Given the description of an element on the screen output the (x, y) to click on. 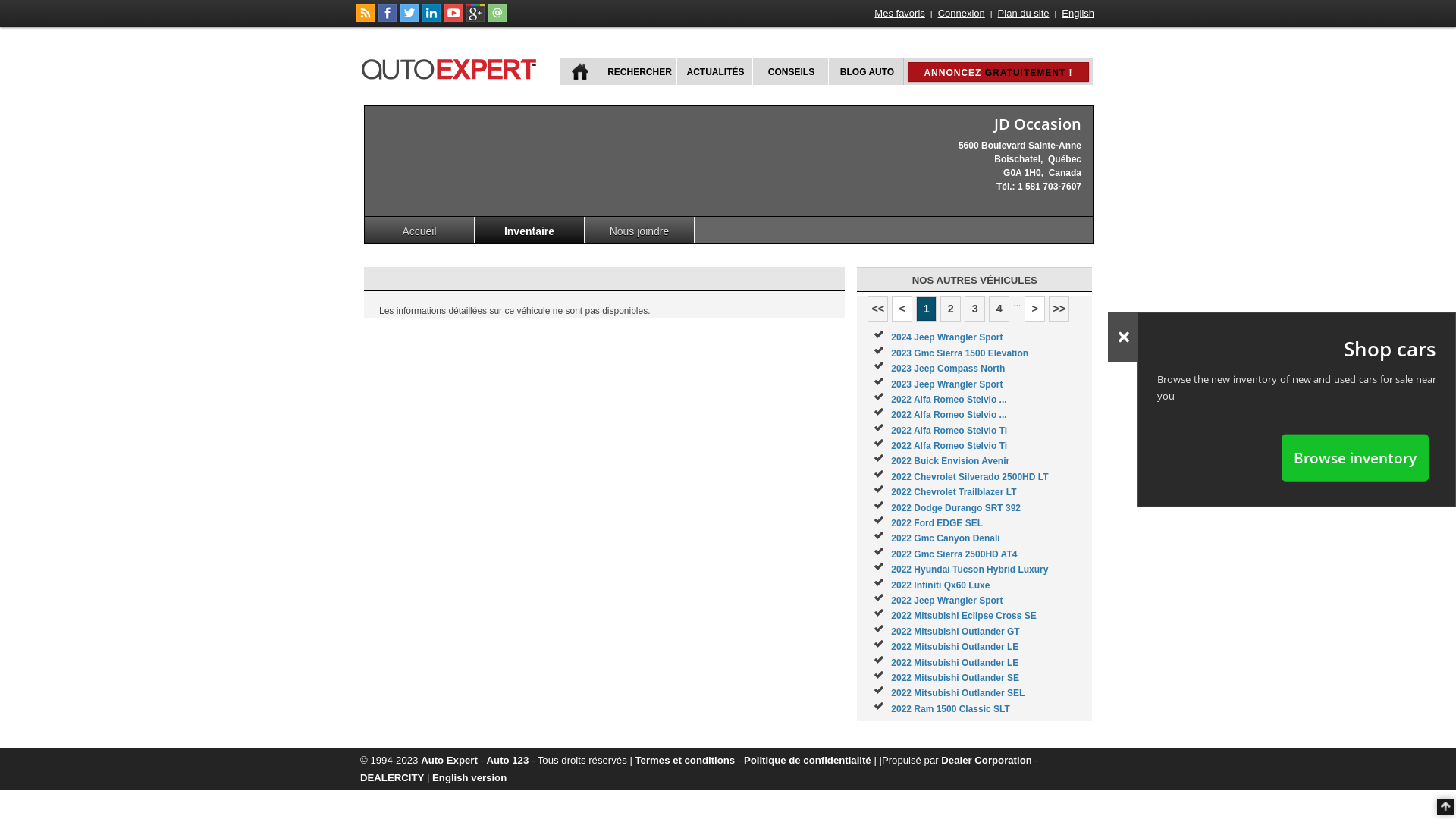
2022 Alfa Romeo Stelvio Ti Element type: text (949, 430)
2022 Infiniti Qx60 Luxe Element type: text (940, 585)
2023 Jeep Wrangler Sport Element type: text (946, 384)
2022 Mitsubishi Outlander LE Element type: text (954, 662)
< Element type: text (901, 308)
2022 Mitsubishi Outlander SEL Element type: text (957, 692)
ANNONCEZ GRATUITEMENT ! Element type: text (997, 71)
2022 Ford EDGE SEL Element type: text (936, 522)
2022 Jeep Wrangler Sport Element type: text (946, 600)
2023 Gmc Sierra 1500 Elevation Element type: text (959, 353)
2022 Buick Envision Avenir Element type: text (950, 460)
DEALERCITY Element type: text (391, 777)
<< Element type: text (877, 308)
2022 Alfa Romeo Stelvio Ti Element type: text (949, 445)
3 Element type: text (974, 308)
2022 Alfa Romeo Stelvio ... Element type: text (948, 399)
English Element type: text (1077, 13)
2022 Ram 1500 Classic SLT Element type: text (950, 708)
2022 Hyundai Tucson Hybrid Luxury Element type: text (969, 569)
Joindre autoExpert.ca Element type: hover (497, 18)
2022 Gmc Canyon Denali Element type: text (945, 538)
2 Element type: text (950, 308)
Browse inventory Element type: text (1354, 457)
2023 Jeep Compass North Element type: text (947, 368)
2022 Mitsubishi Outlander LE Element type: text (954, 646)
Suivez autoExpert.ca sur Youtube Element type: hover (453, 18)
Auto 123 Element type: text (507, 759)
4 Element type: text (998, 308)
2024 Jeep Wrangler Sport Element type: text (946, 337)
1 Element type: text (926, 308)
Suivez Publications Le Guide Inc. sur LinkedIn Element type: hover (431, 18)
CONSEILS Element type: text (789, 71)
ACCUEIL Element type: text (580, 71)
2022 Gmc Sierra 2500HD AT4 Element type: text (953, 554)
Connexion Element type: text (961, 13)
Accueil Element type: text (419, 229)
English version Element type: text (469, 777)
Suivez autoExpert.ca sur Twitter Element type: hover (409, 18)
Termes et conditions Element type: text (685, 759)
BLOG AUTO Element type: text (865, 71)
Inventaire Element type: text (529, 229)
2022 Dodge Durango SRT 392 Element type: text (955, 507)
> Element type: text (1034, 308)
RECHERCHER Element type: text (637, 71)
Auto Expert Element type: text (448, 759)
Suivez autoExpert.ca sur Google Plus Element type: hover (475, 18)
Mes favoris Element type: text (898, 13)
2022 Mitsubishi Eclipse Cross SE Element type: text (963, 615)
2022 Chevrolet Silverado 2500HD LT Element type: text (969, 476)
Suivez autoExpert.ca sur Facebook Element type: hover (387, 18)
2022 Mitsubishi Outlander SE Element type: text (955, 677)
autoExpert.ca Element type: text (451, 66)
2022 Chevrolet Trailblazer LT Element type: text (953, 491)
Nous joindre Element type: text (639, 229)
2022 Mitsubishi Outlander GT Element type: text (955, 631)
2022 Alfa Romeo Stelvio ... Element type: text (948, 414)
Plan du site Element type: text (1023, 13)
>> Element type: text (1058, 308)
Dealer Corporation Element type: text (986, 759)
